Given the description of an element on the screen output the (x, y) to click on. 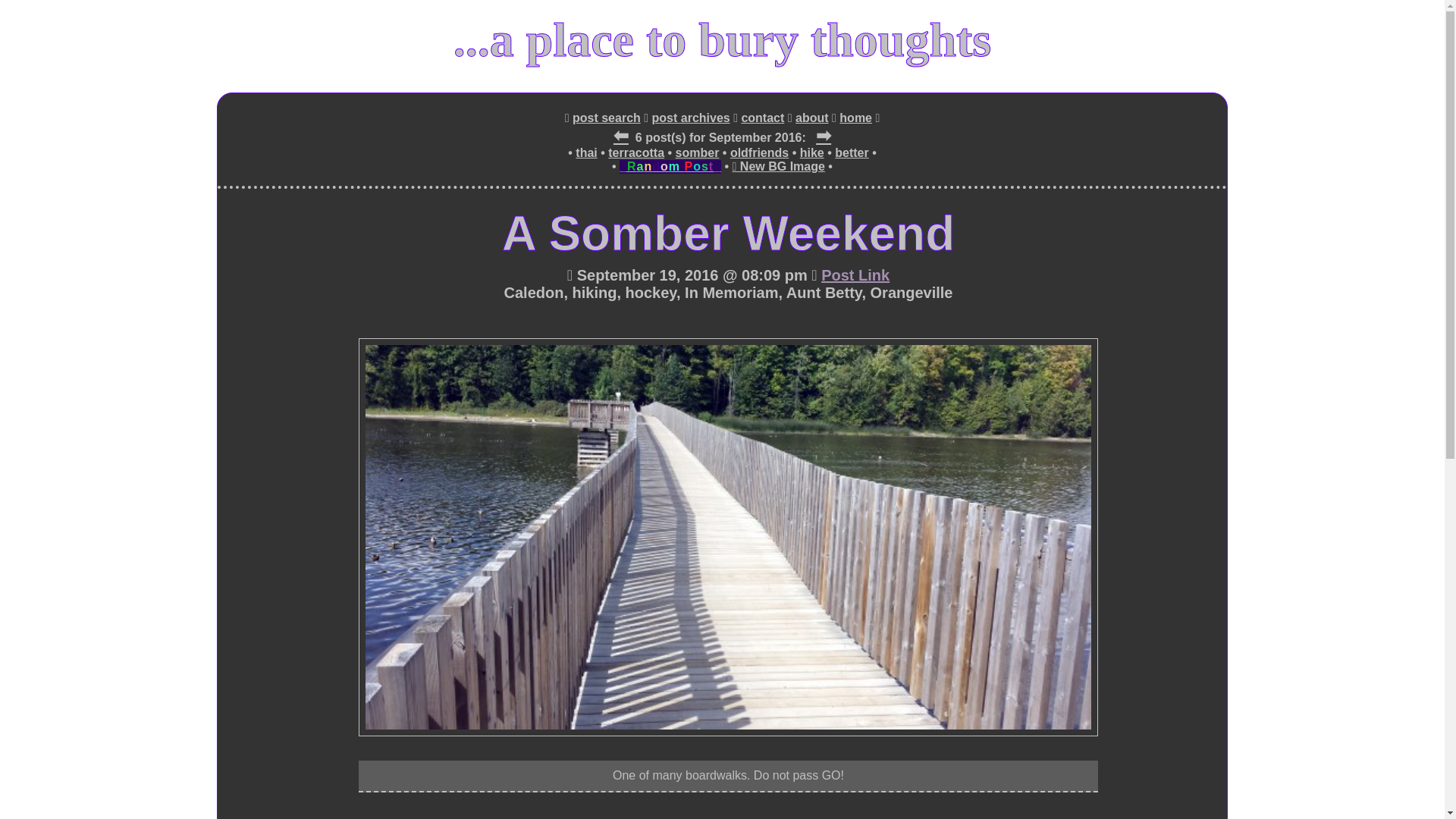
terracotta (635, 152)
Post Link (855, 275)
about (811, 118)
home (856, 118)
thai (585, 152)
somber (697, 152)
...a place to bury thoughts (721, 39)
post archives (691, 118)
post search (606, 118)
hike (811, 152)
contact (762, 118)
oldfriends (759, 152)
better (850, 152)
